Given the description of an element on the screen output the (x, y) to click on. 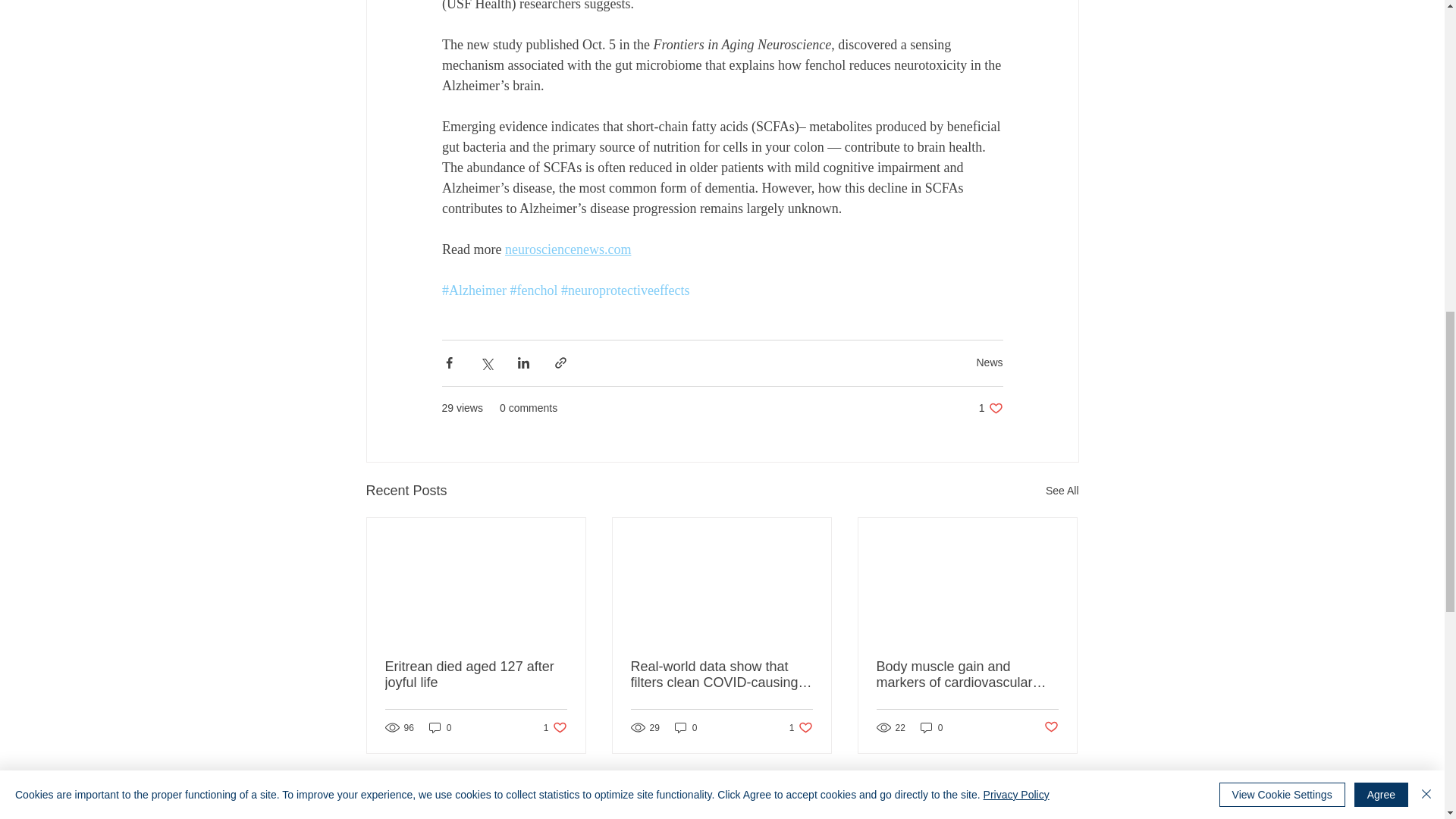
0 (685, 727)
Embedded Content (871, 811)
News (800, 727)
0 (989, 362)
neurosciencenews.com (440, 727)
Eritrean died aged 127 after joyful life (555, 727)
See All (990, 408)
